Given the description of an element on the screen output the (x, y) to click on. 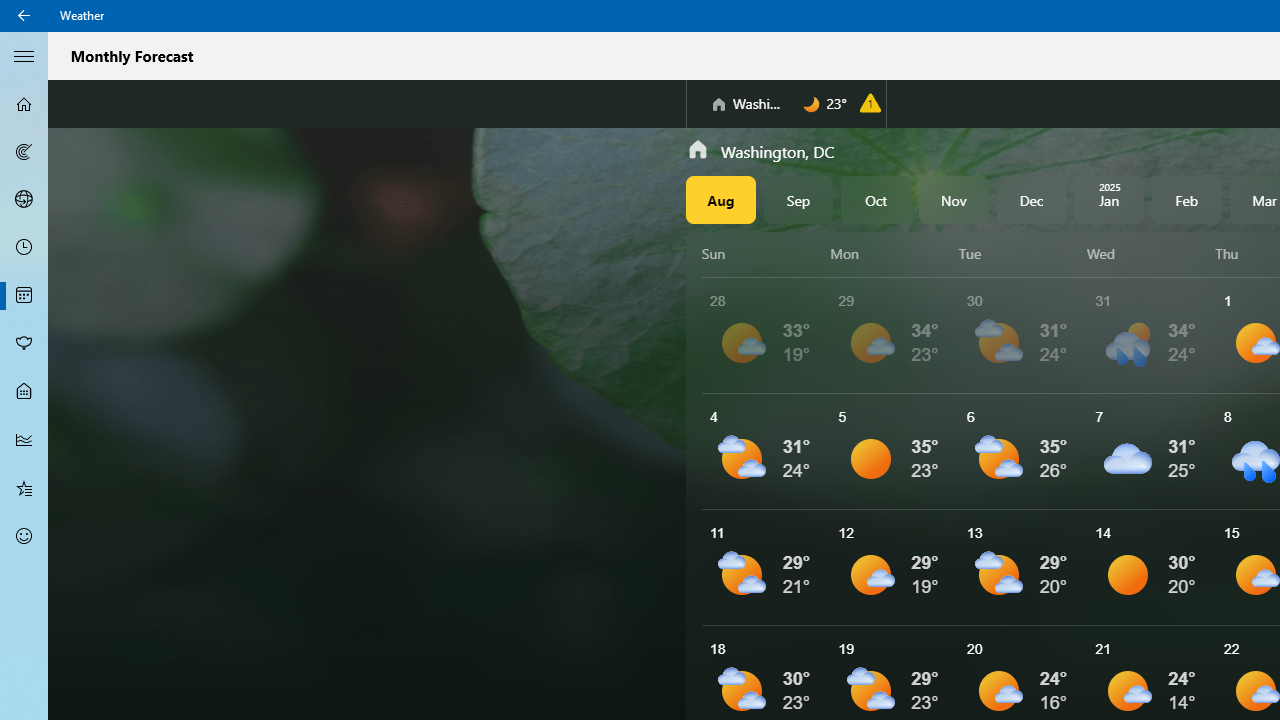
Forecast - Not Selected (24, 103)
Maps - Not Selected (24, 151)
Send Feedback - Not Selected (24, 535)
Historical Weather - Not Selected (24, 439)
Favorites - Not Selected (24, 487)
Life - Not Selected (24, 391)
3D Maps - Not Selected (24, 199)
Back (24, 15)
Pollen - Not Selected (24, 343)
Hourly Forecast - Not Selected (24, 247)
3D Maps - Not Selected (24, 199)
Maps - Not Selected (24, 151)
Hourly Forecast - Not Selected (24, 247)
Pollen - Not Selected (24, 343)
Send Feedback - Not Selected (24, 535)
